Given the description of an element on the screen output the (x, y) to click on. 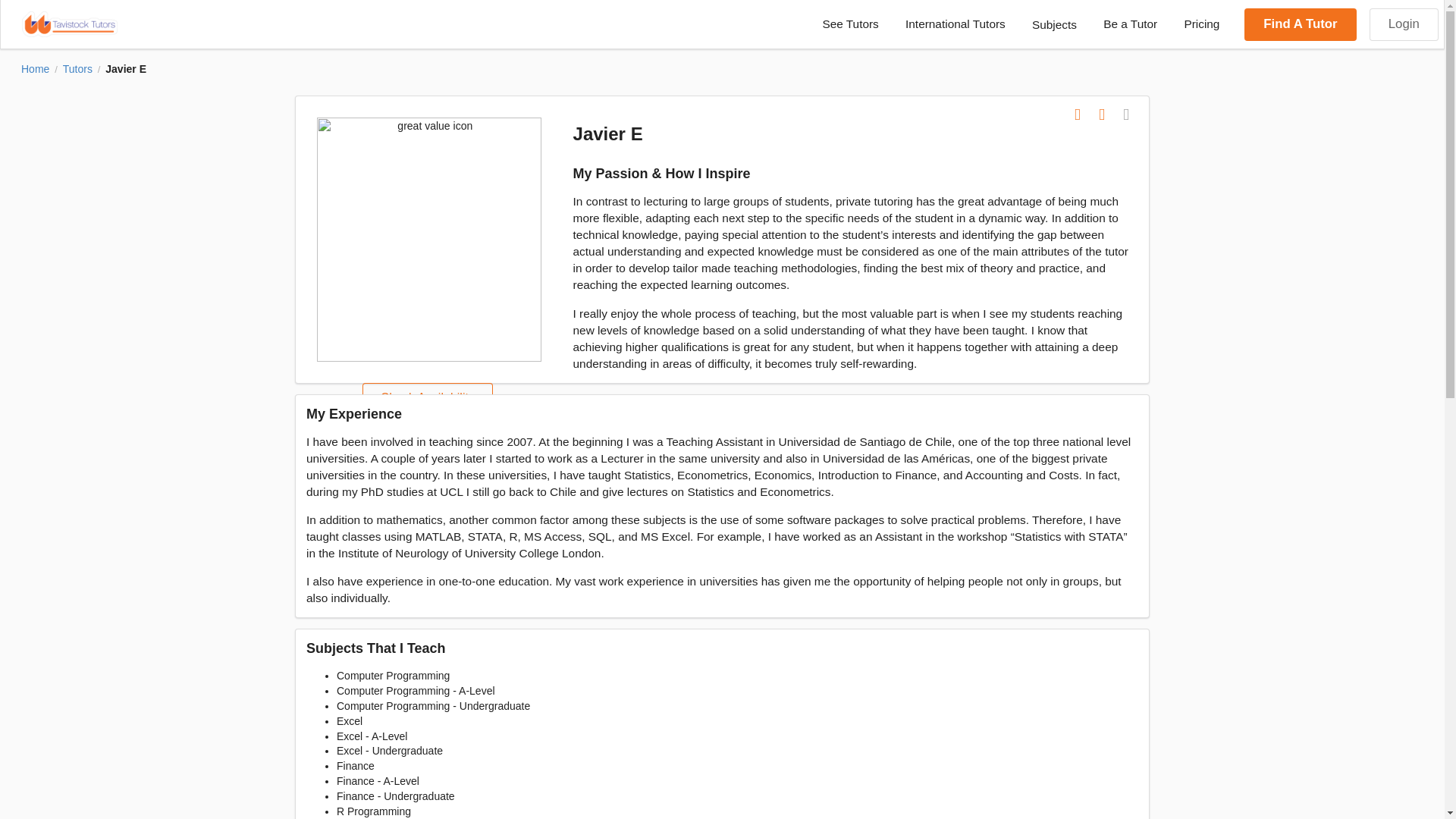
See Tutors (850, 24)
International Tutors (954, 24)
Subjects (1053, 23)
